Given the description of an element on the screen output the (x, y) to click on. 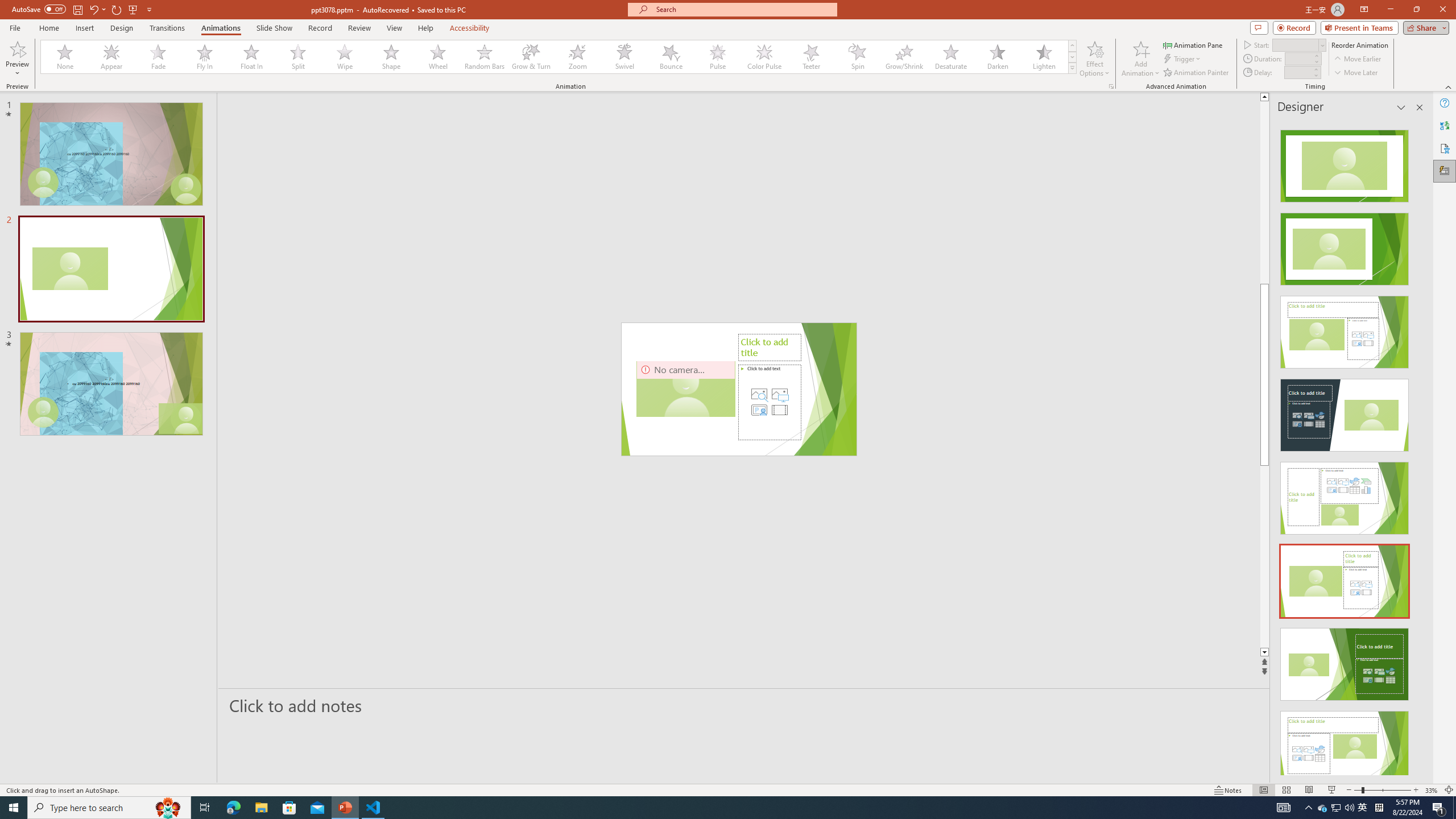
Animation Pane (1193, 44)
None (65, 56)
From Beginning (133, 9)
Designer (1444, 170)
Grow & Turn (531, 56)
Content Placeholder (769, 402)
AutoSave (38, 9)
More (1315, 69)
Swivel (624, 56)
Restore Down (1416, 9)
Microsoft search (742, 9)
